Given the description of an element on the screen output the (x, y) to click on. 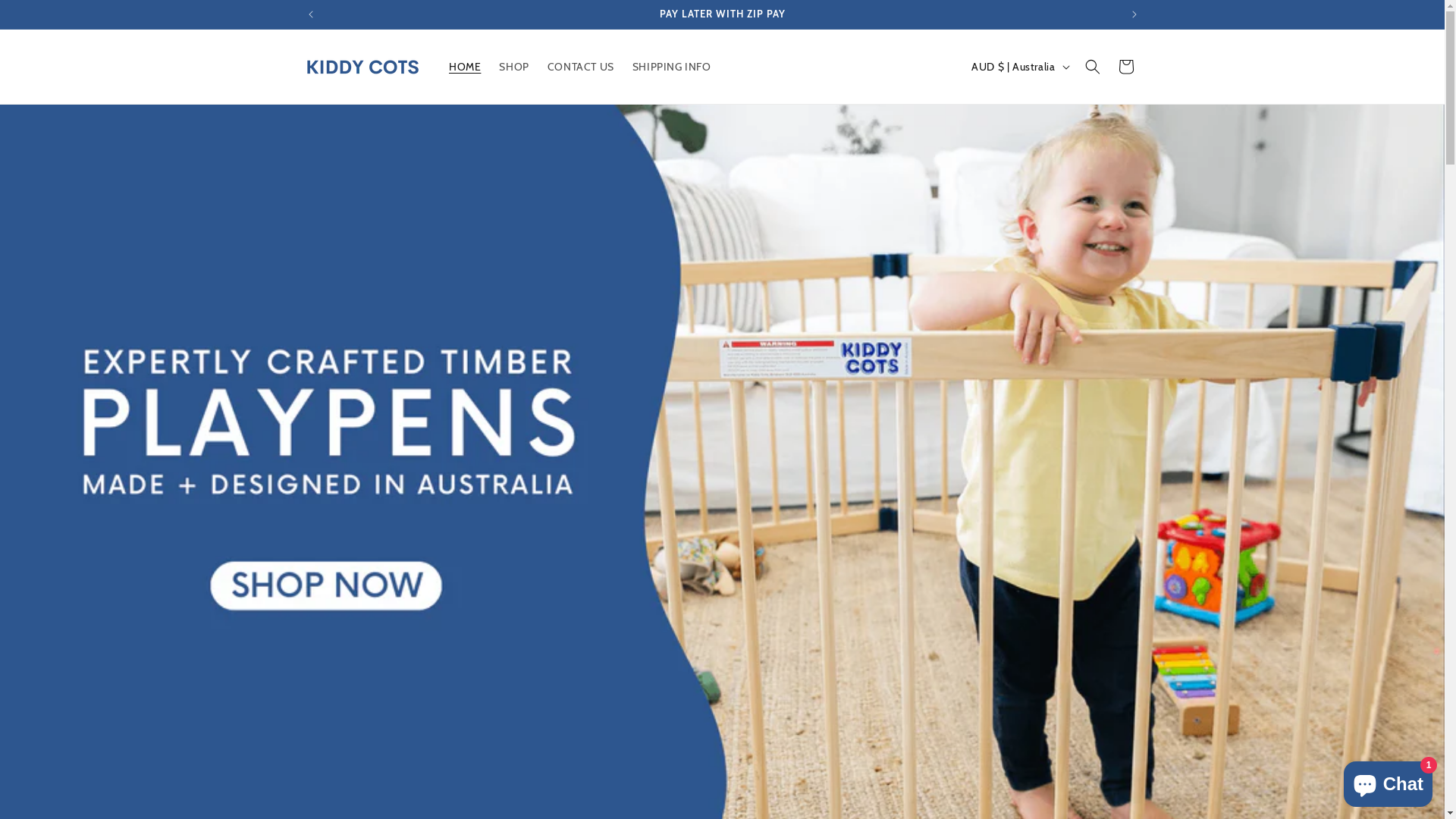
HOME Element type: text (464, 66)
AUD $ | Australia Element type: text (1018, 66)
CONTACT US Element type: text (580, 66)
Cart Element type: text (1125, 66)
WHOLESALE AVALIABLE Element type: text (722, 14)
Shopify online store chat Element type: hover (1388, 780)
SHIPPING INFO Element type: text (671, 66)
SHOP Element type: text (513, 66)
